Given the description of an element on the screen output the (x, y) to click on. 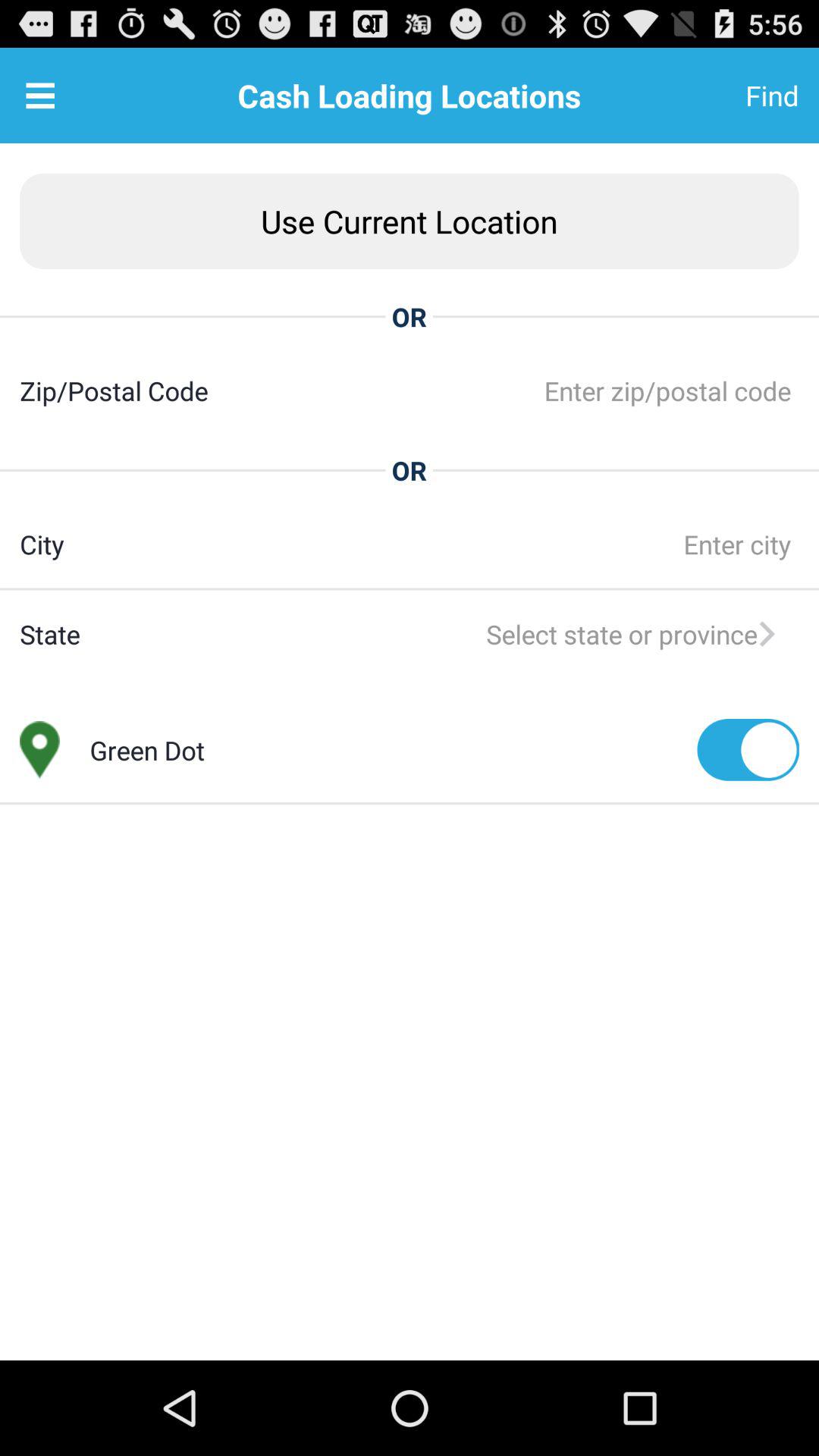
scroll to find (735, 95)
